Given the description of an element on the screen output the (x, y) to click on. 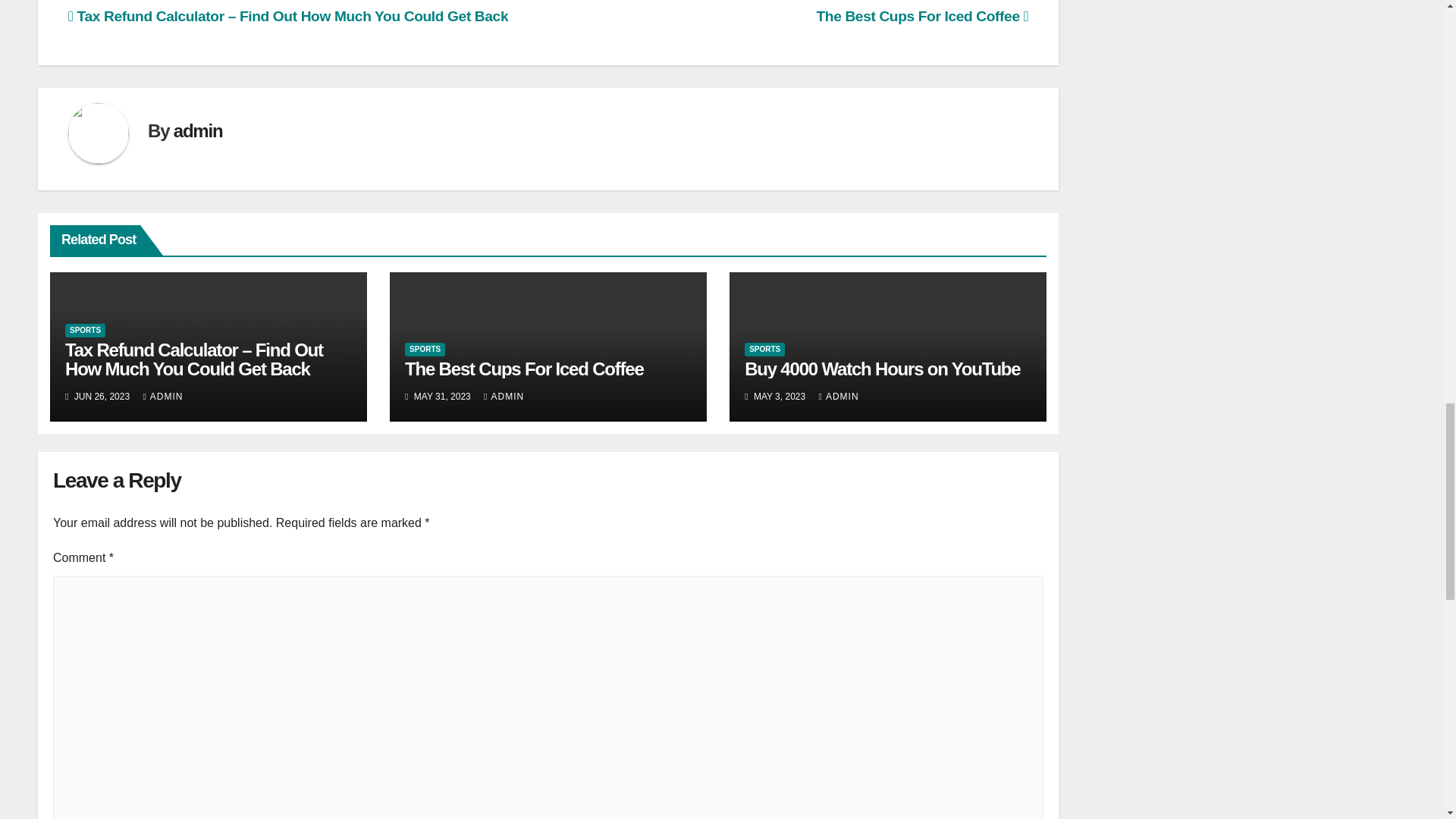
The Best Cups For Iced Coffee (921, 16)
Permalink to: The Best Cups For Iced Coffee (523, 368)
admin (197, 130)
SPORTS (84, 330)
